Given the description of an element on the screen output the (x, y) to click on. 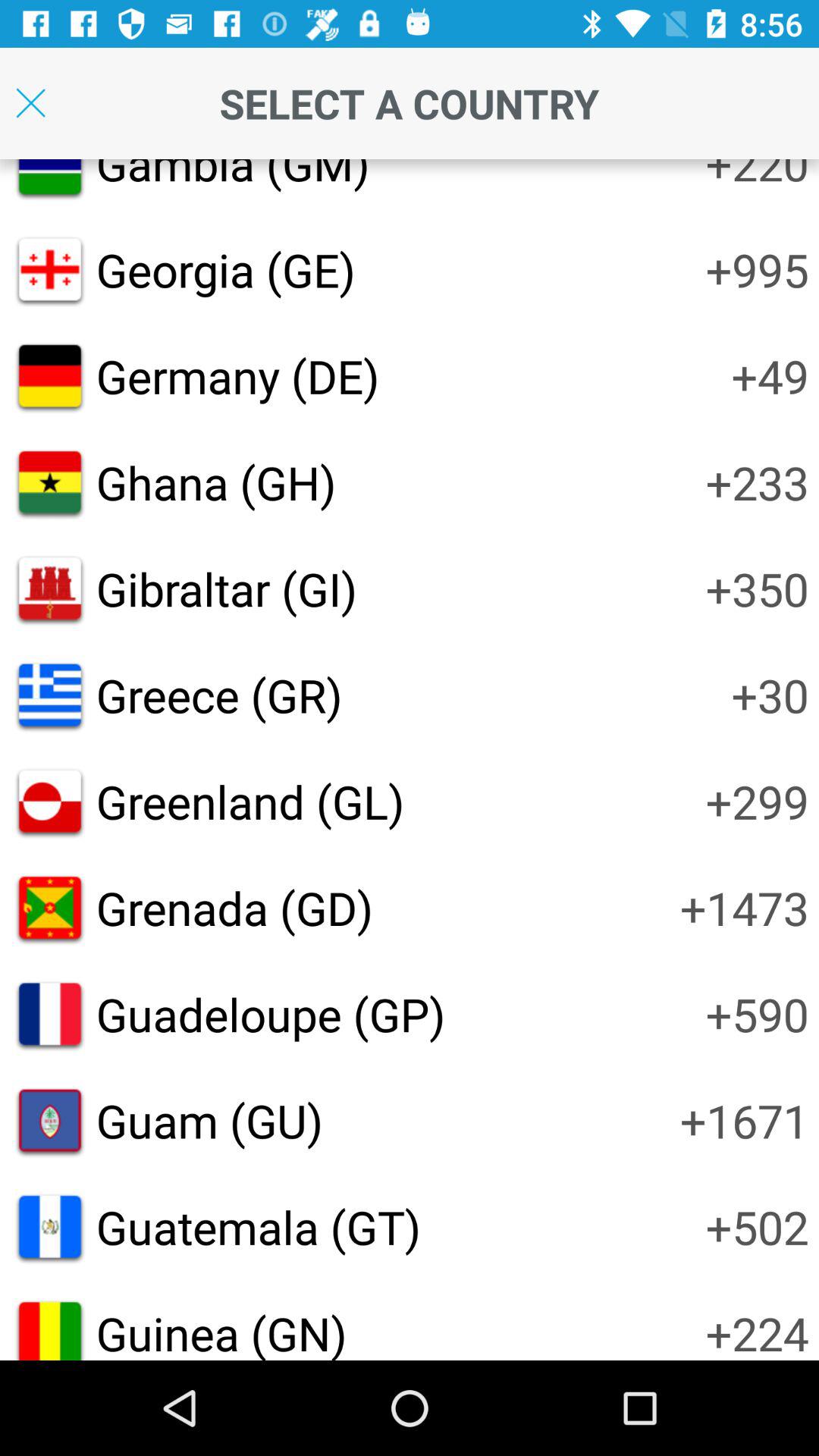
turn off item to the left of the +30 icon (219, 694)
